Given the description of an element on the screen output the (x, y) to click on. 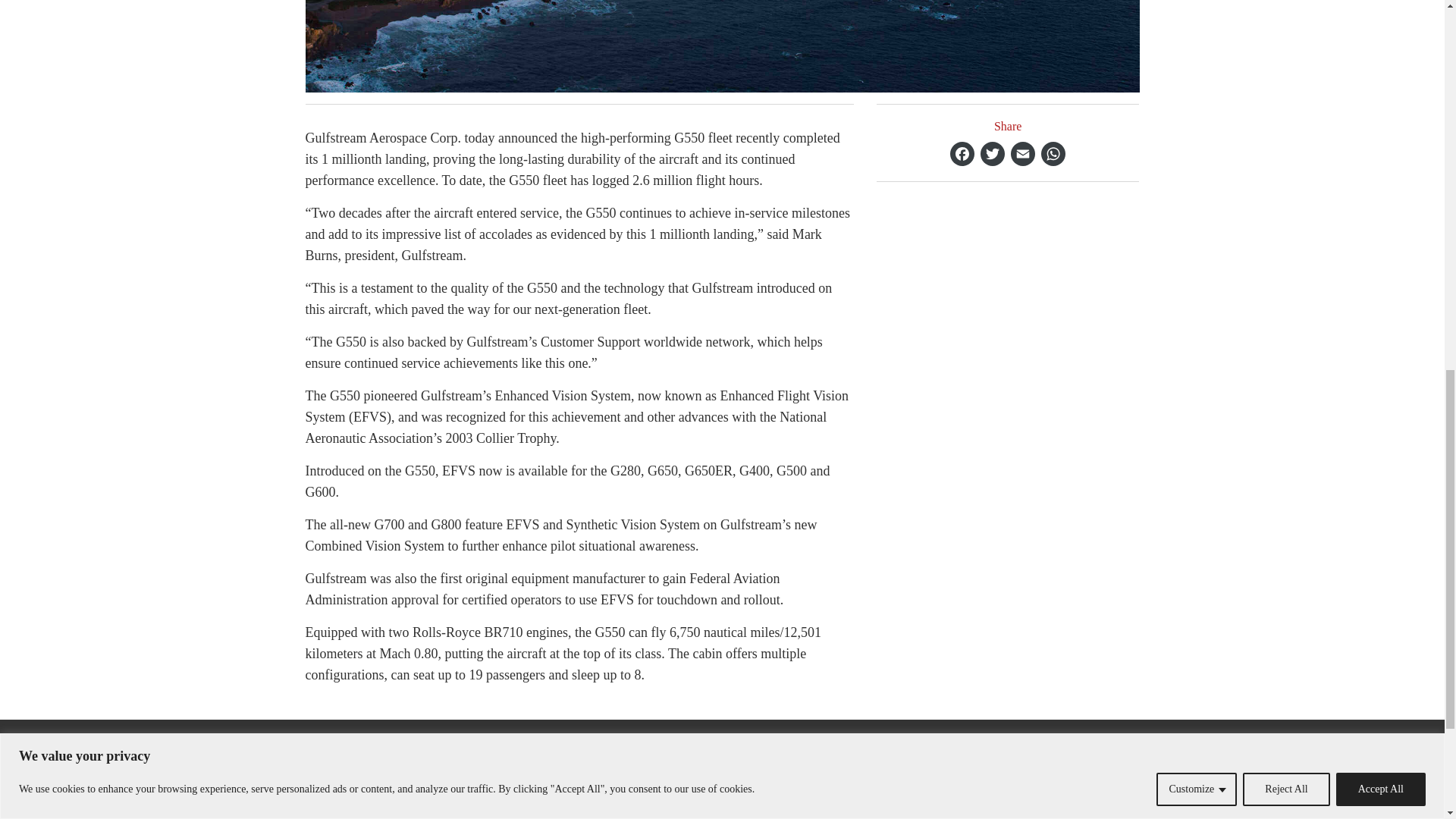
Email (1022, 153)
Twitter (991, 153)
Facebook (961, 153)
WhatsApp (1053, 153)
